Given the description of an element on the screen output the (x, y) to click on. 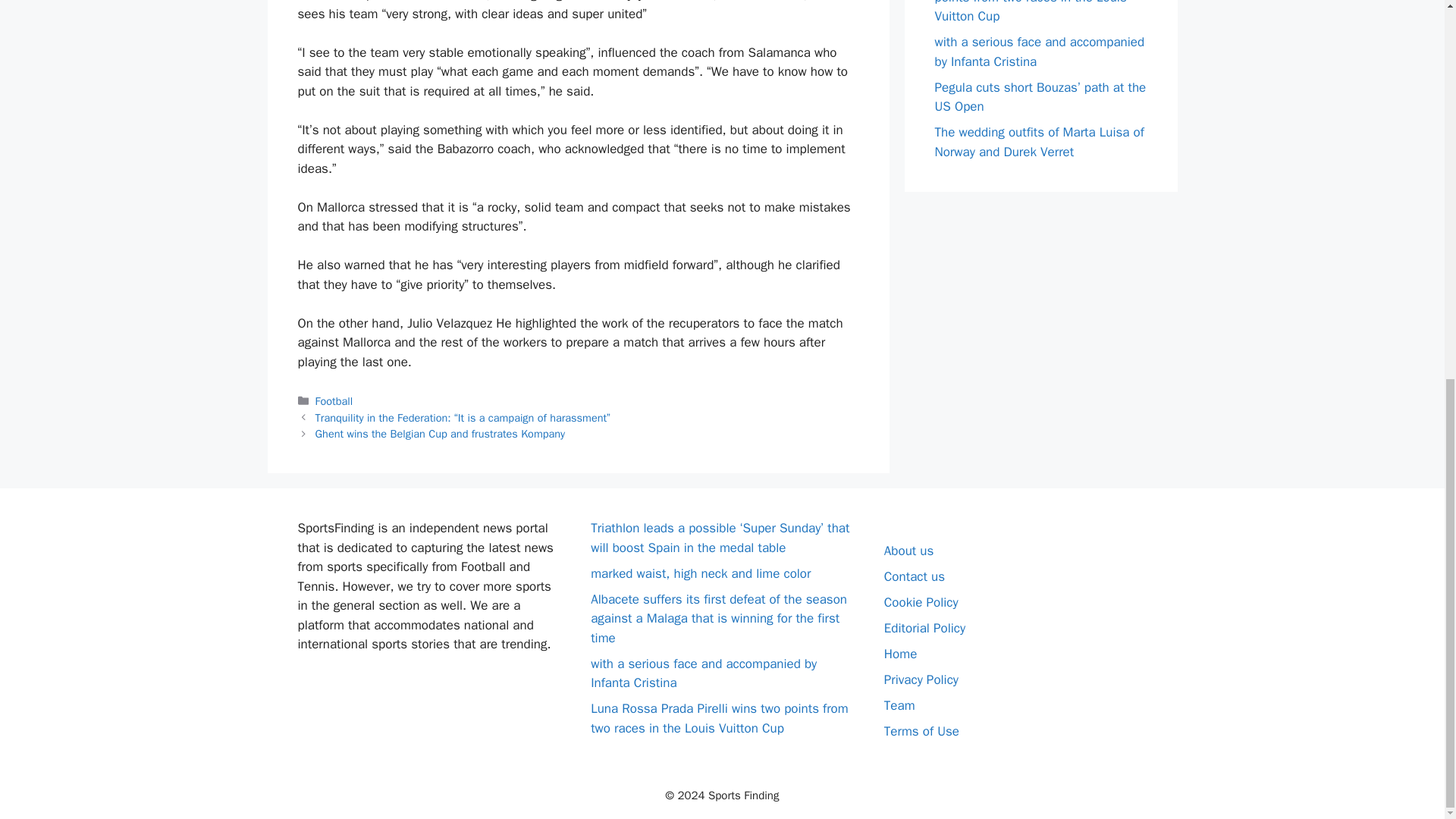
with a serious face and accompanied by Infanta Cristina (703, 673)
marked waist, high neck and lime color (700, 573)
Contact us (913, 576)
with a serious face and accompanied by Infanta Cristina (1039, 51)
Editorial Policy (924, 627)
About us (908, 550)
